Given the description of an element on the screen output the (x, y) to click on. 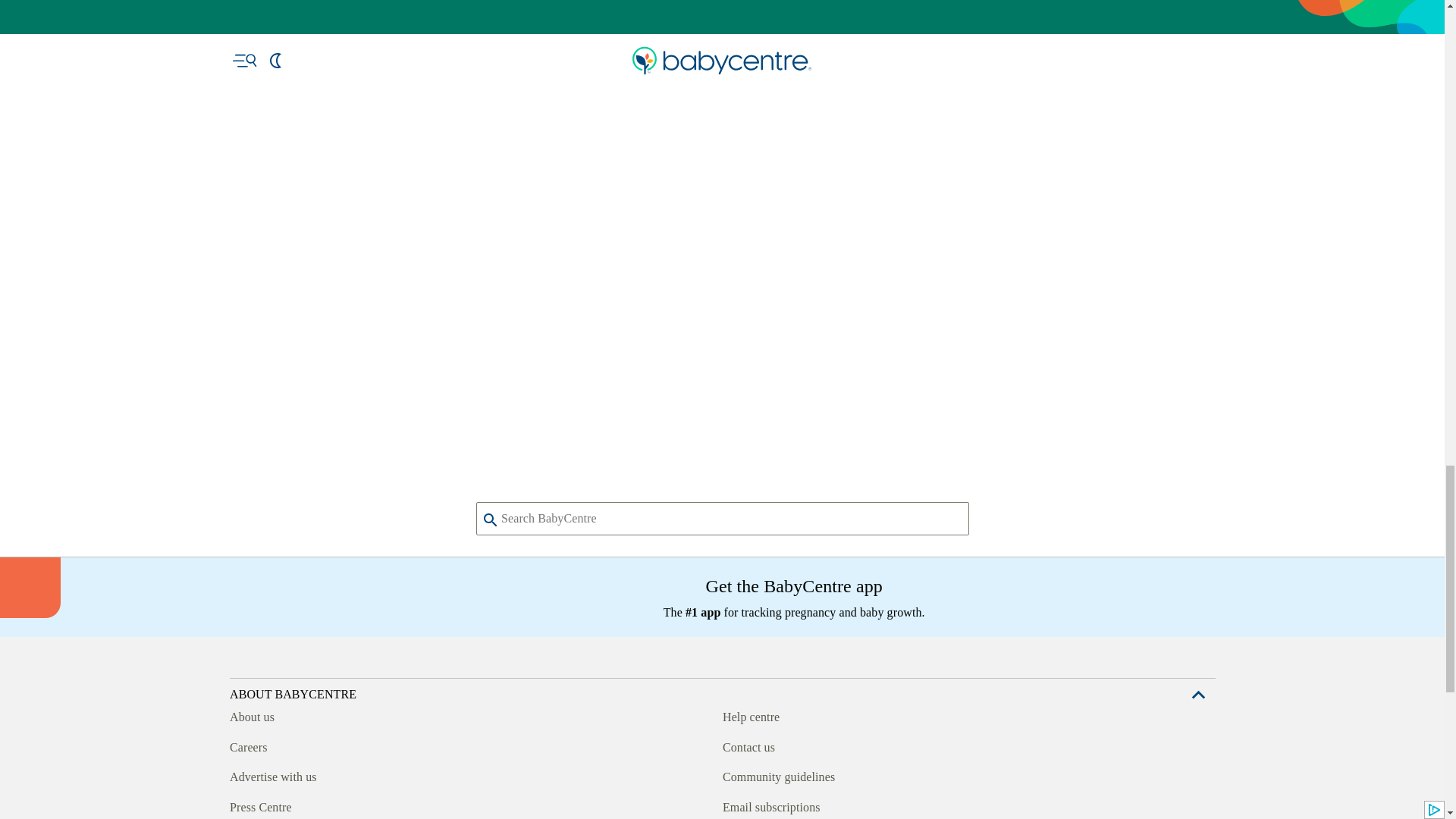
Twitter (558, 44)
Pinterest (592, 44)
Facebook (523, 44)
